Given the description of an element on the screen output the (x, y) to click on. 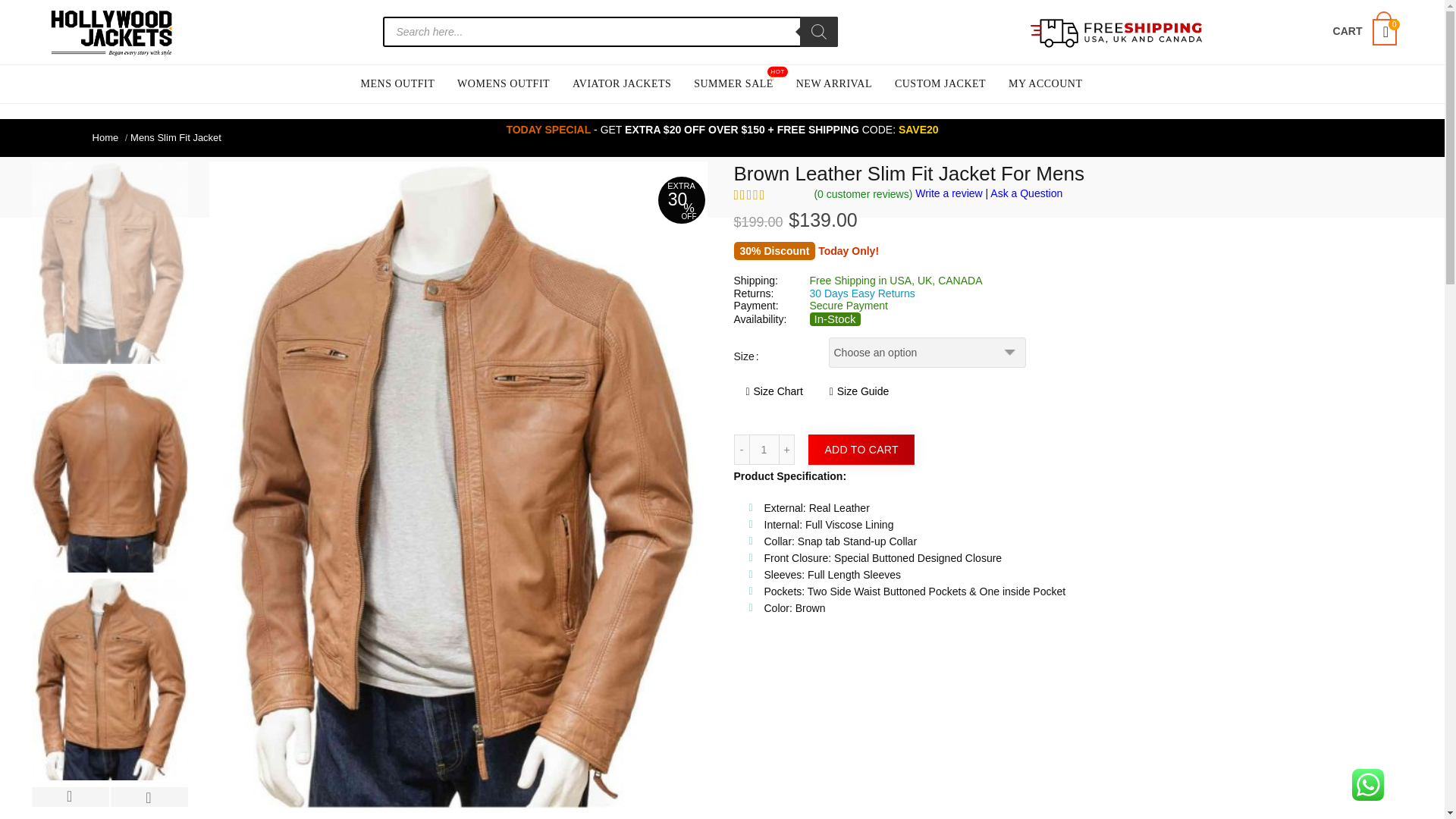
1 (763, 449)
Rated 0 out of 5 (768, 194)
Qty (763, 449)
